Given the description of an element on the screen output the (x, y) to click on. 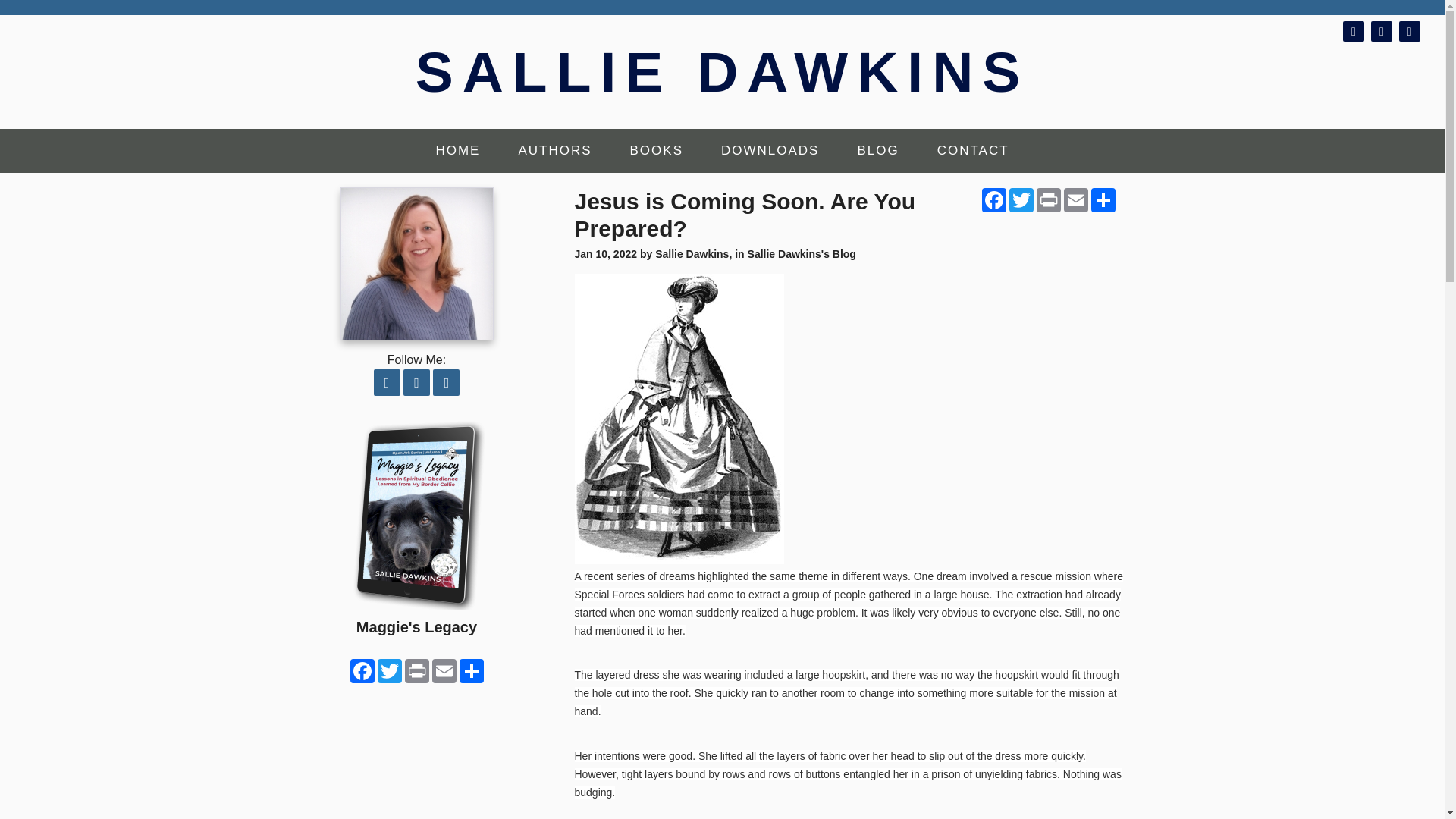
BOOKS (656, 150)
Email (1075, 200)
Share (1102, 200)
AUTHORS (554, 150)
Sallie Dawkins (692, 254)
Twitter (1020, 200)
BLOG (877, 150)
Print (1047, 200)
DOWNLOADS (769, 150)
SALLIE DAWKINS (721, 72)
HOME (457, 150)
CONTACT (972, 150)
Sallie Dawkins's Blog (802, 254)
Facebook (993, 200)
